Given the description of an element on the screen output the (x, y) to click on. 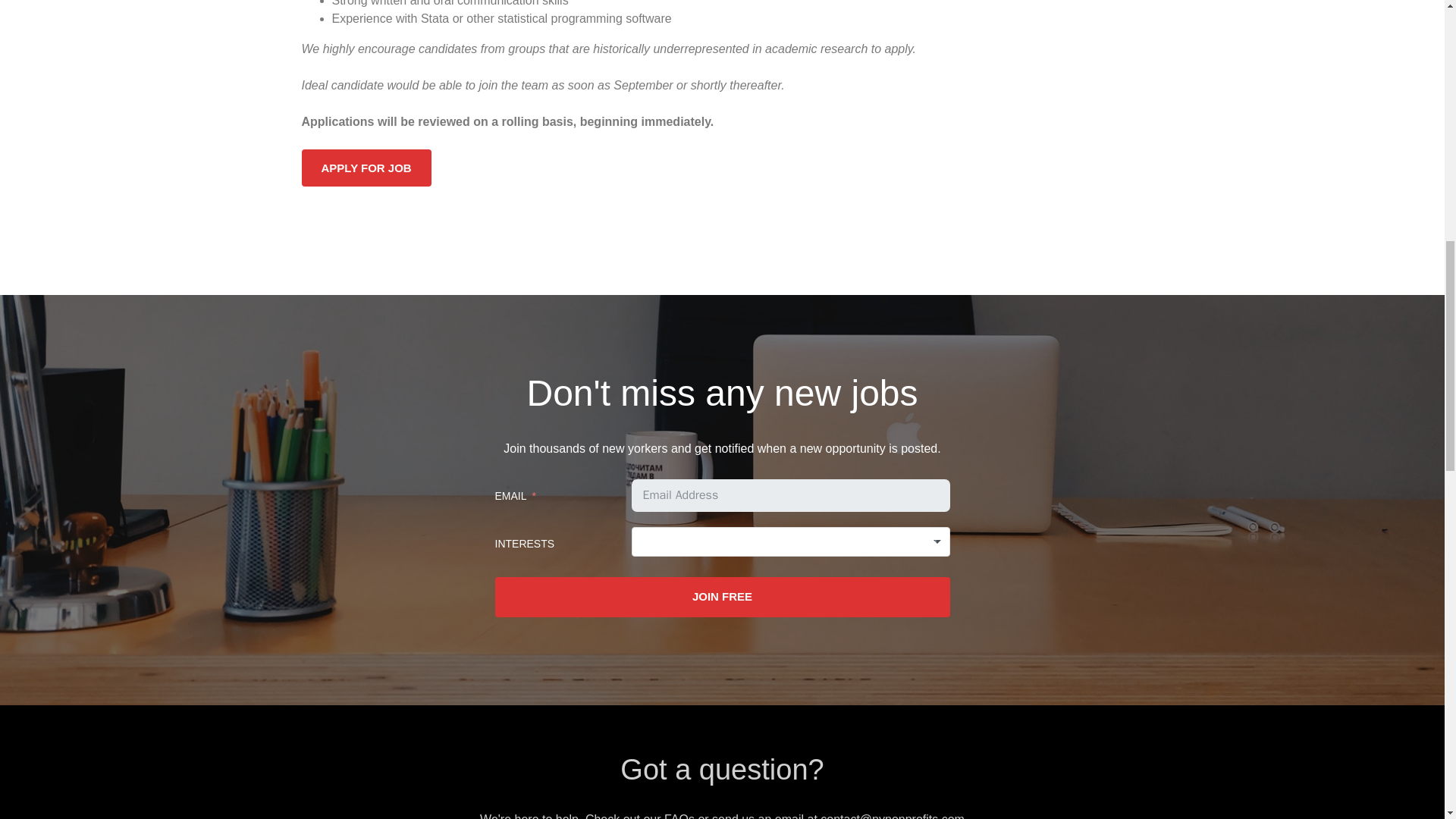
JOIN FREE (722, 597)
APPLY FOR JOB (365, 167)
